Given the description of an element on the screen output the (x, y) to click on. 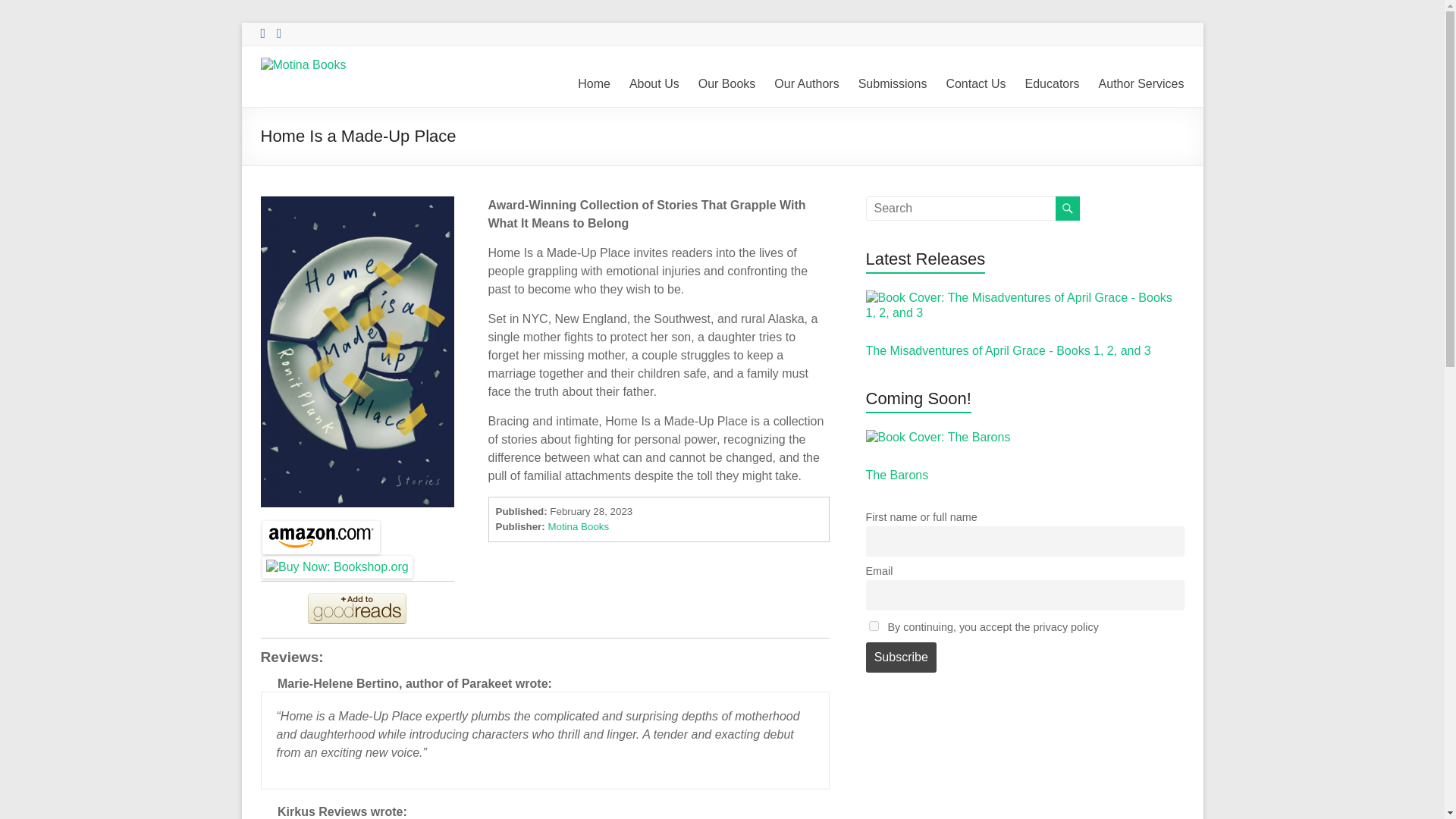
on (874, 625)
Motina Books (577, 526)
Educators (1052, 83)
About Us (653, 83)
Contact Us (975, 83)
Motina Books (299, 92)
Motina Books (299, 92)
Our Books (726, 83)
Subscribe (901, 656)
